Given the description of an element on the screen output the (x, y) to click on. 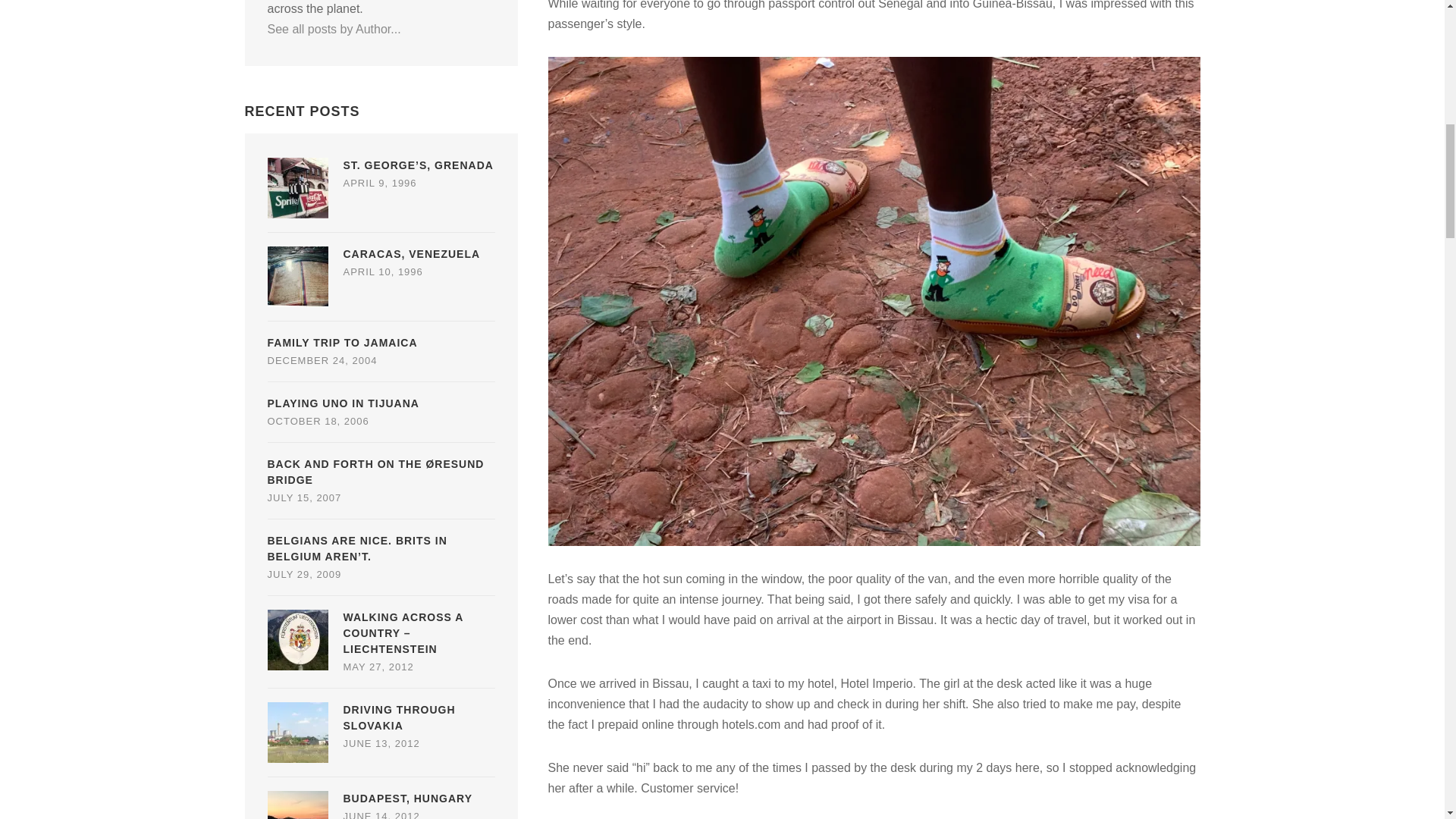
See all posts by Author... (333, 29)
